Given the description of an element on the screen output the (x, y) to click on. 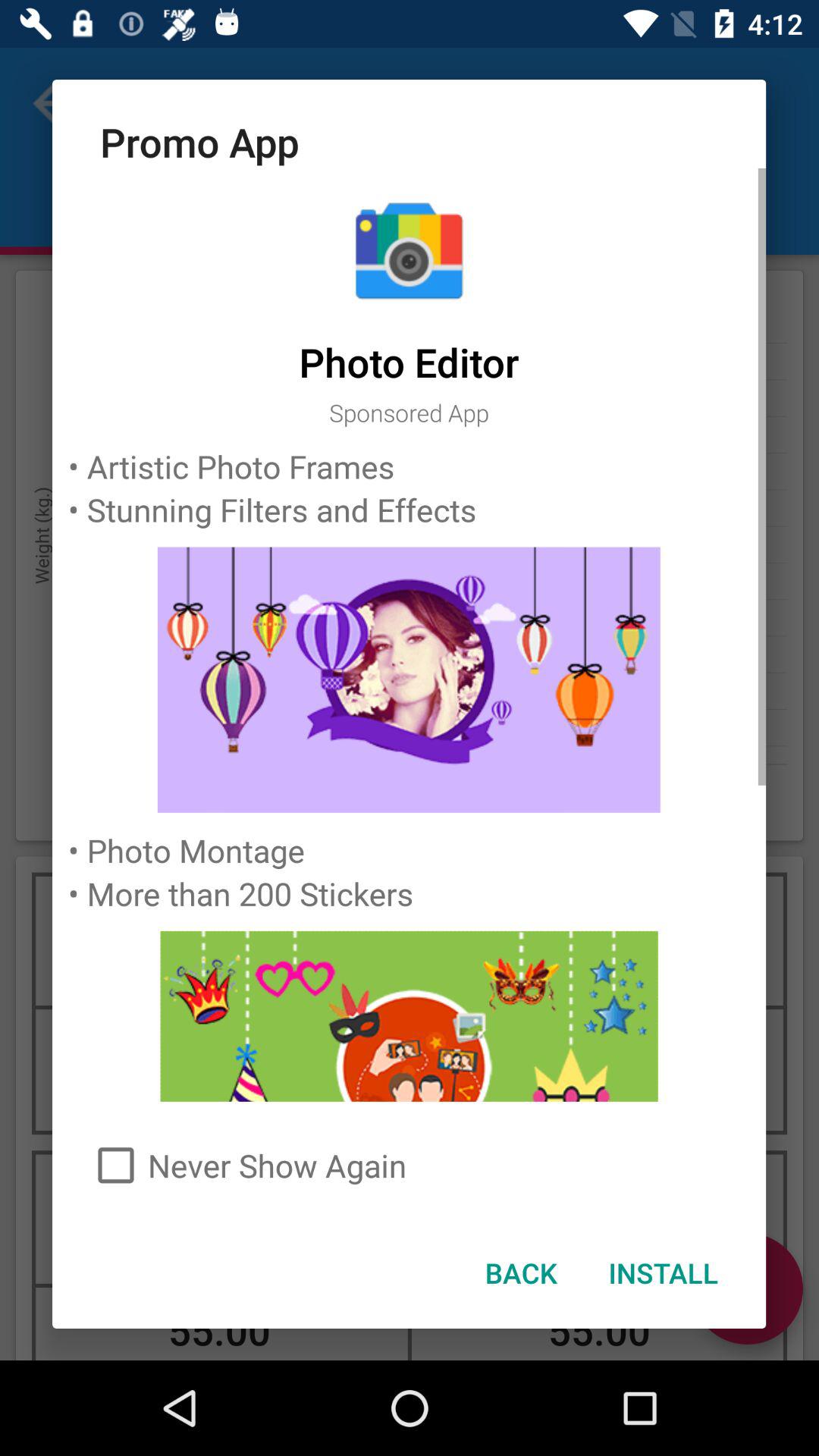
tap icon to the left of the install item (520, 1272)
